Given the description of an element on the screen output the (x, y) to click on. 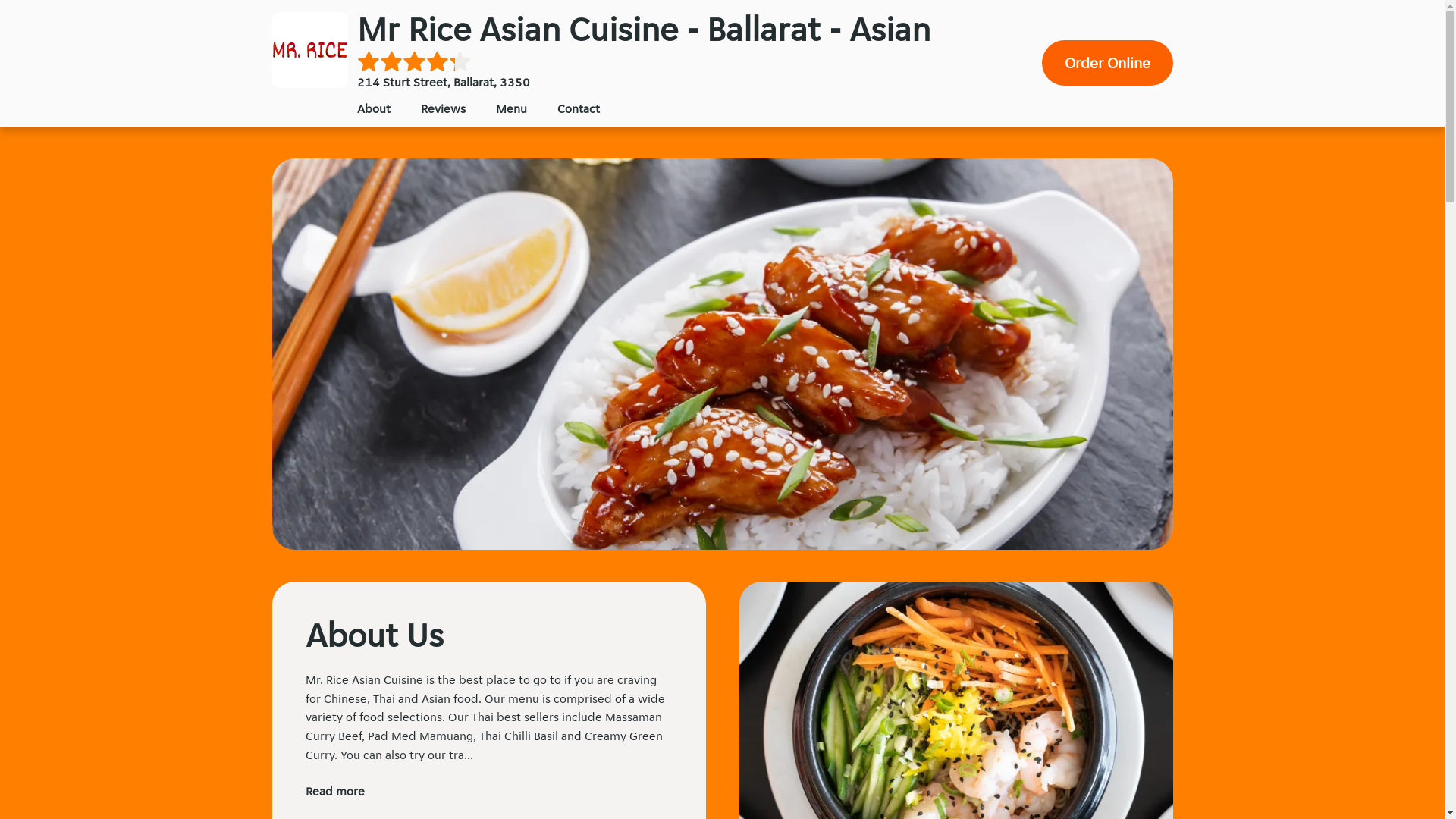
Reviews Element type: text (442, 108)
Mr Rice Asian Cuisine - Ballarat Element type: hover (309, 49)
Contact Element type: text (577, 108)
Read more Element type: text (334, 791)
Order Online Element type: text (1107, 62)
Menu Element type: text (511, 108)
About Element type: text (372, 108)
